Given the description of an element on the screen output the (x, y) to click on. 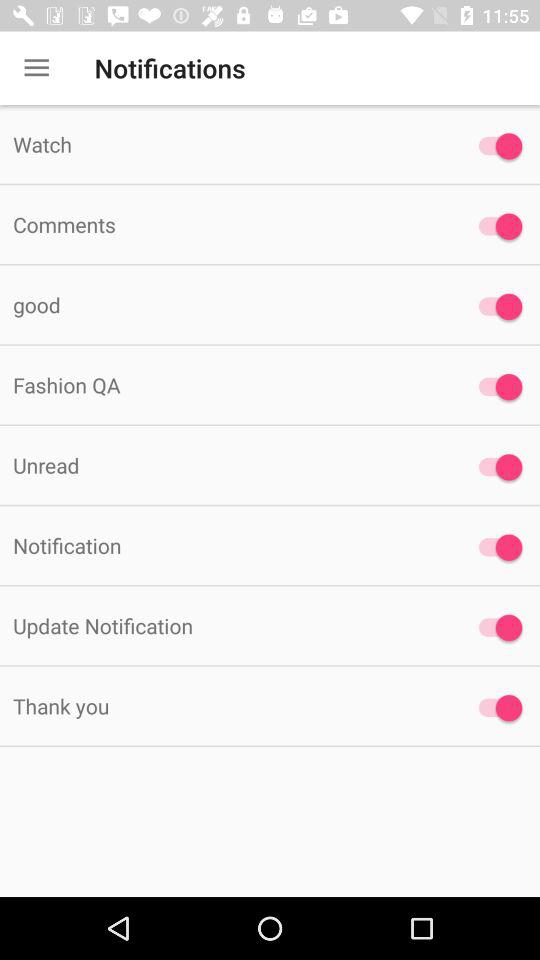
launch good item (225, 304)
